Given the description of an element on the screen output the (x, y) to click on. 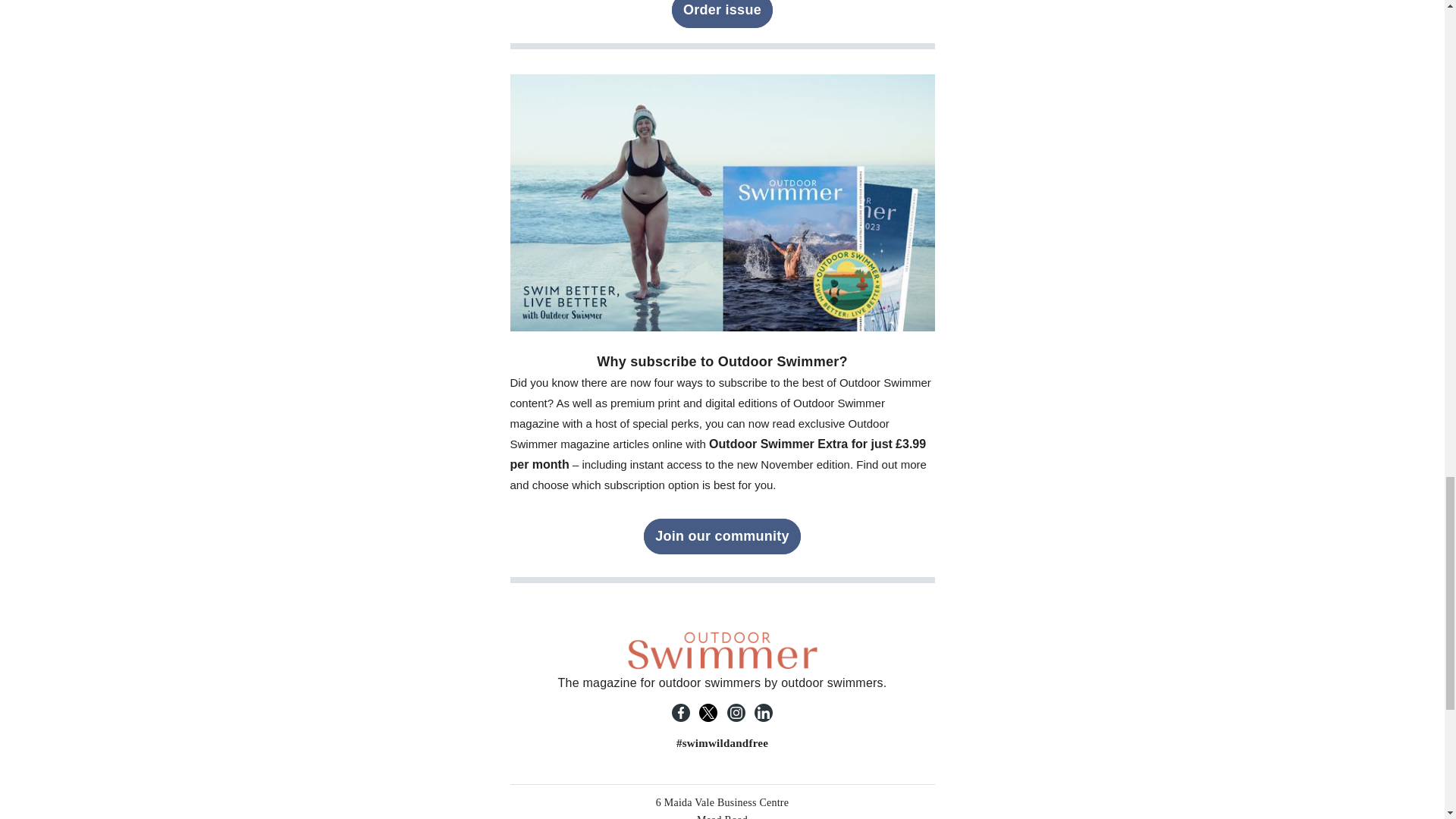
Order issue (722, 13)
Join our community (721, 536)
